Given the description of an element on the screen output the (x, y) to click on. 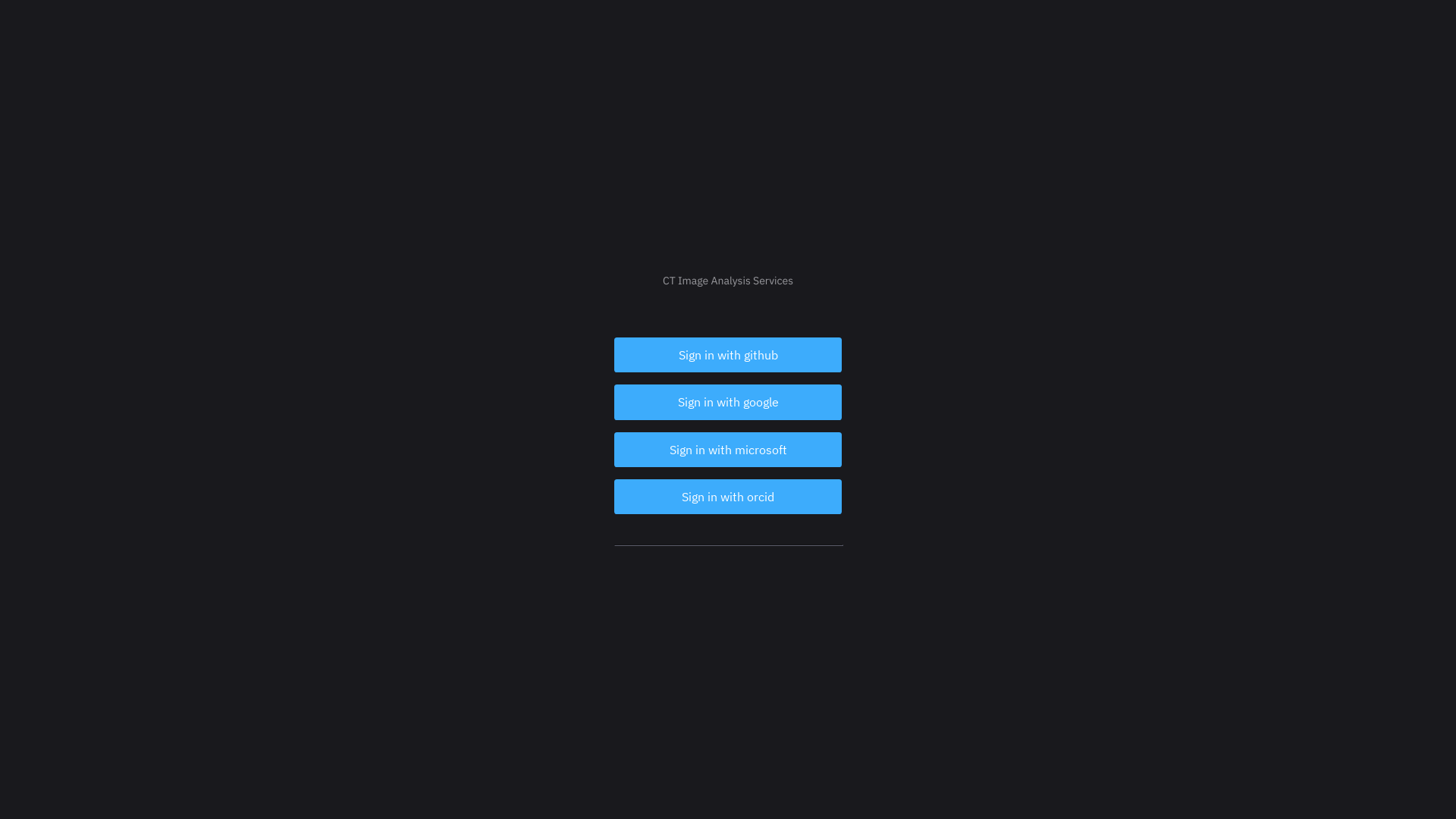
Sign in with google Element type: text (727, 401)
Sign in with github Element type: text (727, 354)
Sign in with orcid Element type: text (727, 496)
Sign in with microsoft Element type: text (727, 449)
